Given the description of an element on the screen output the (x, y) to click on. 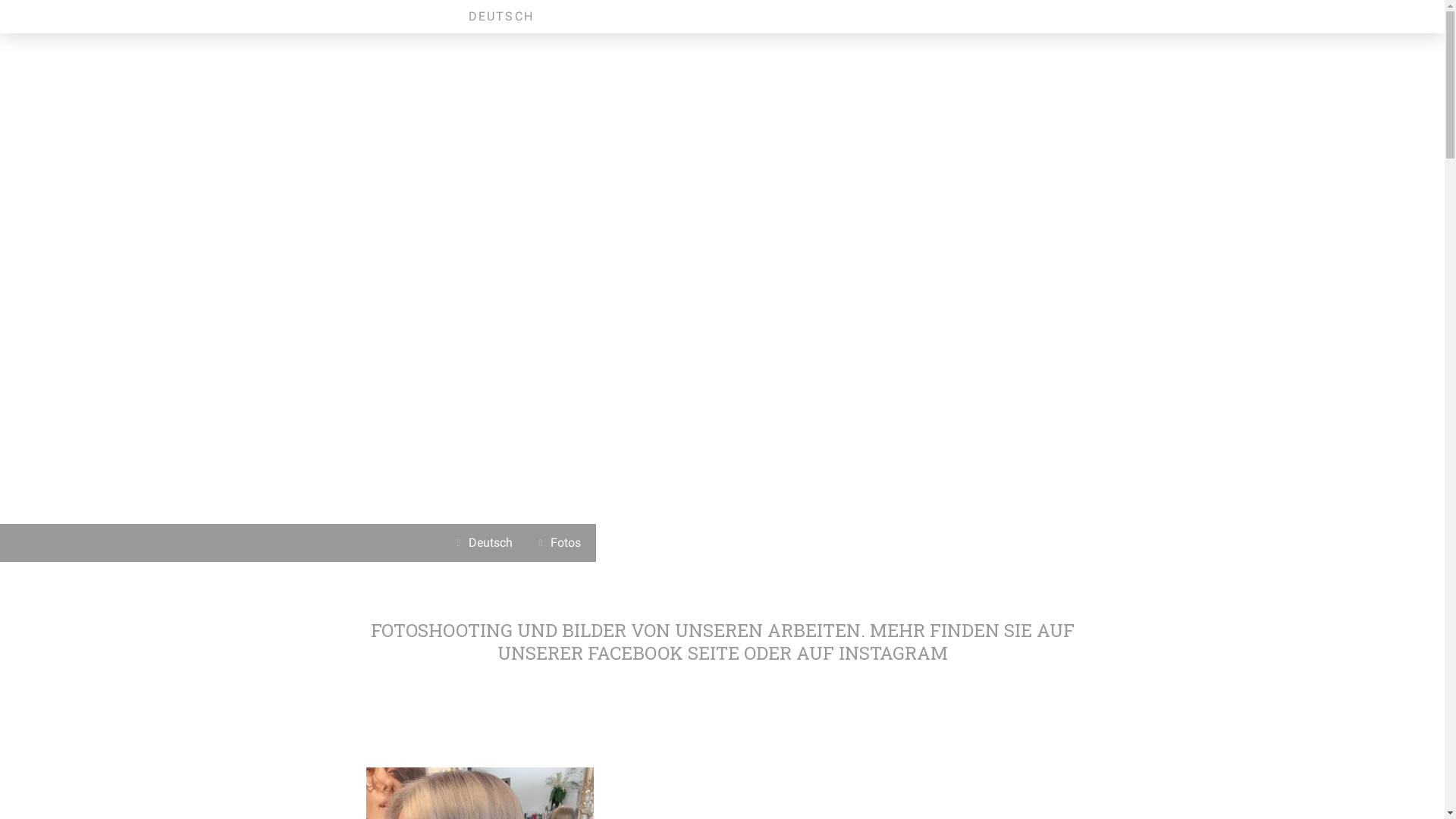
Fotos Element type: text (561, 542)
Deutsch Element type: text (486, 542)
DEUTSCH Element type: text (501, 16)
